Given the description of an element on the screen output the (x, y) to click on. 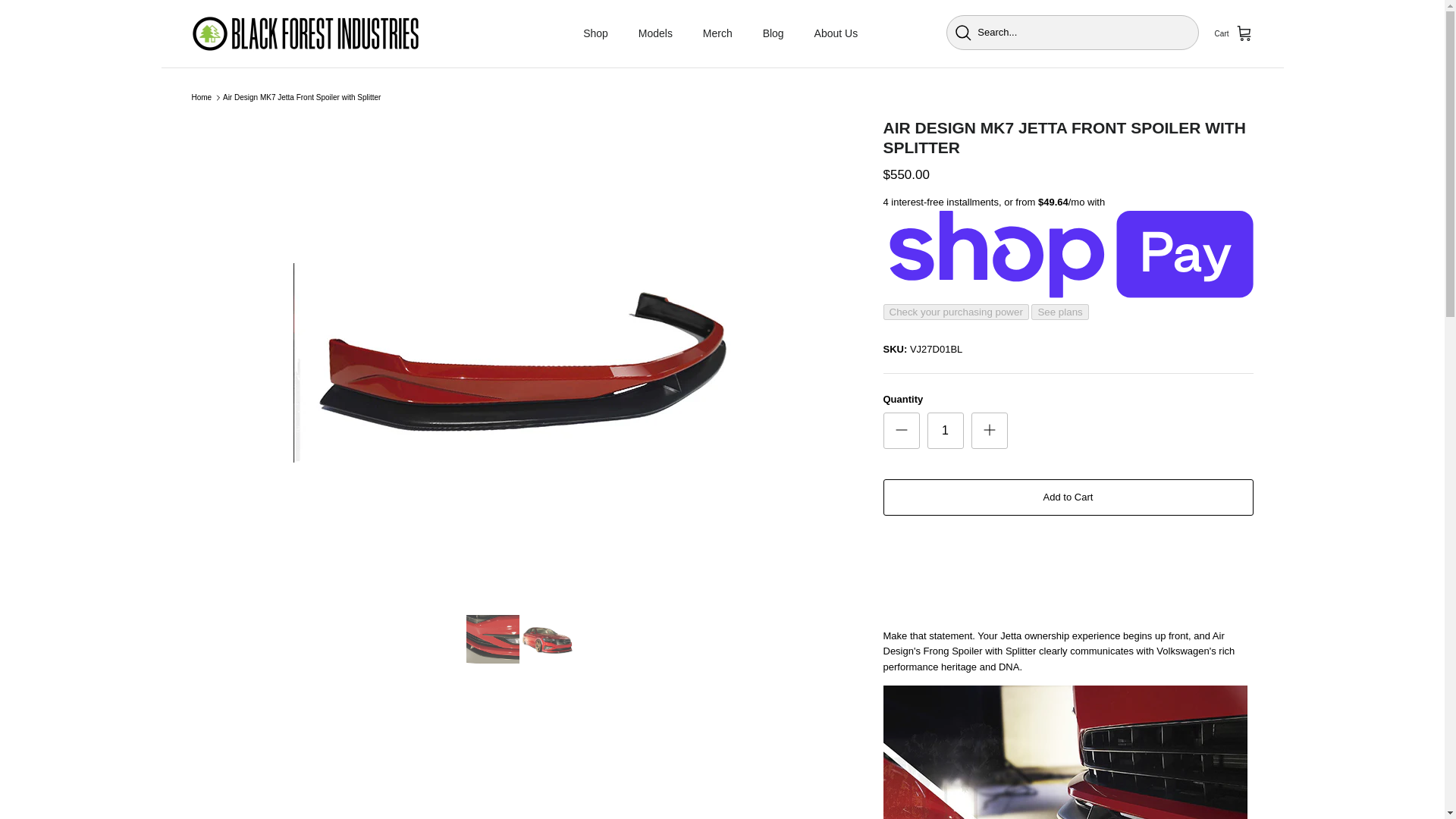
Models (654, 33)
Black Forest Industries (304, 33)
Blog (773, 33)
Merch (716, 33)
Minus (900, 429)
Plus (988, 429)
Shop (595, 33)
1 (944, 430)
About Us (836, 33)
Cart (1233, 34)
